Given the description of an element on the screen output the (x, y) to click on. 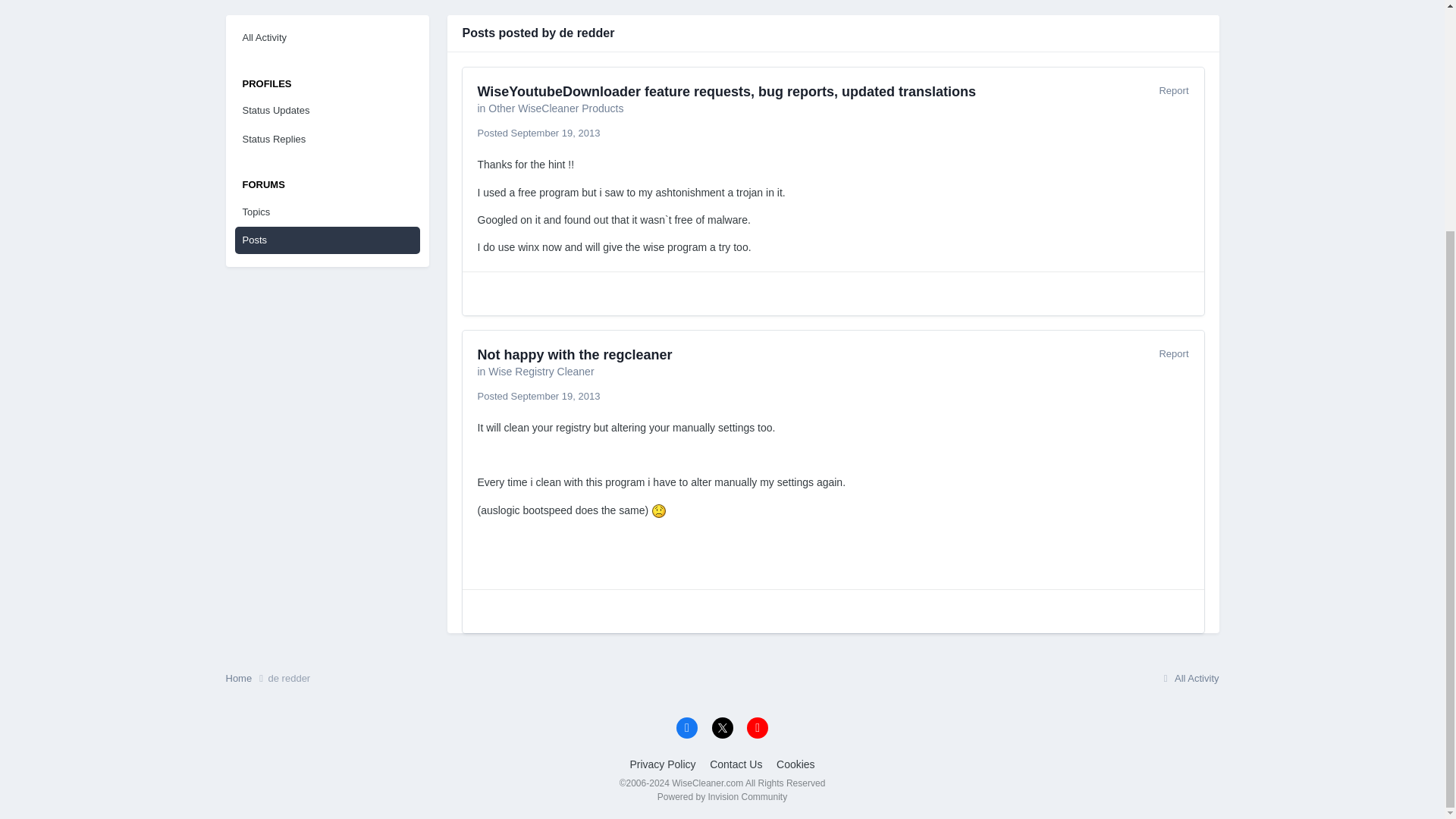
Report this content (1173, 353)
Report (1173, 90)
Invision Community (722, 796)
All Activity (327, 37)
Topics (327, 212)
Report this content (1173, 90)
Posts (327, 239)
Status Updates (327, 110)
View the topic Not happy with the regcleaner (574, 354)
Status Replies (327, 139)
Home (246, 678)
